Given the description of an element on the screen output the (x, y) to click on. 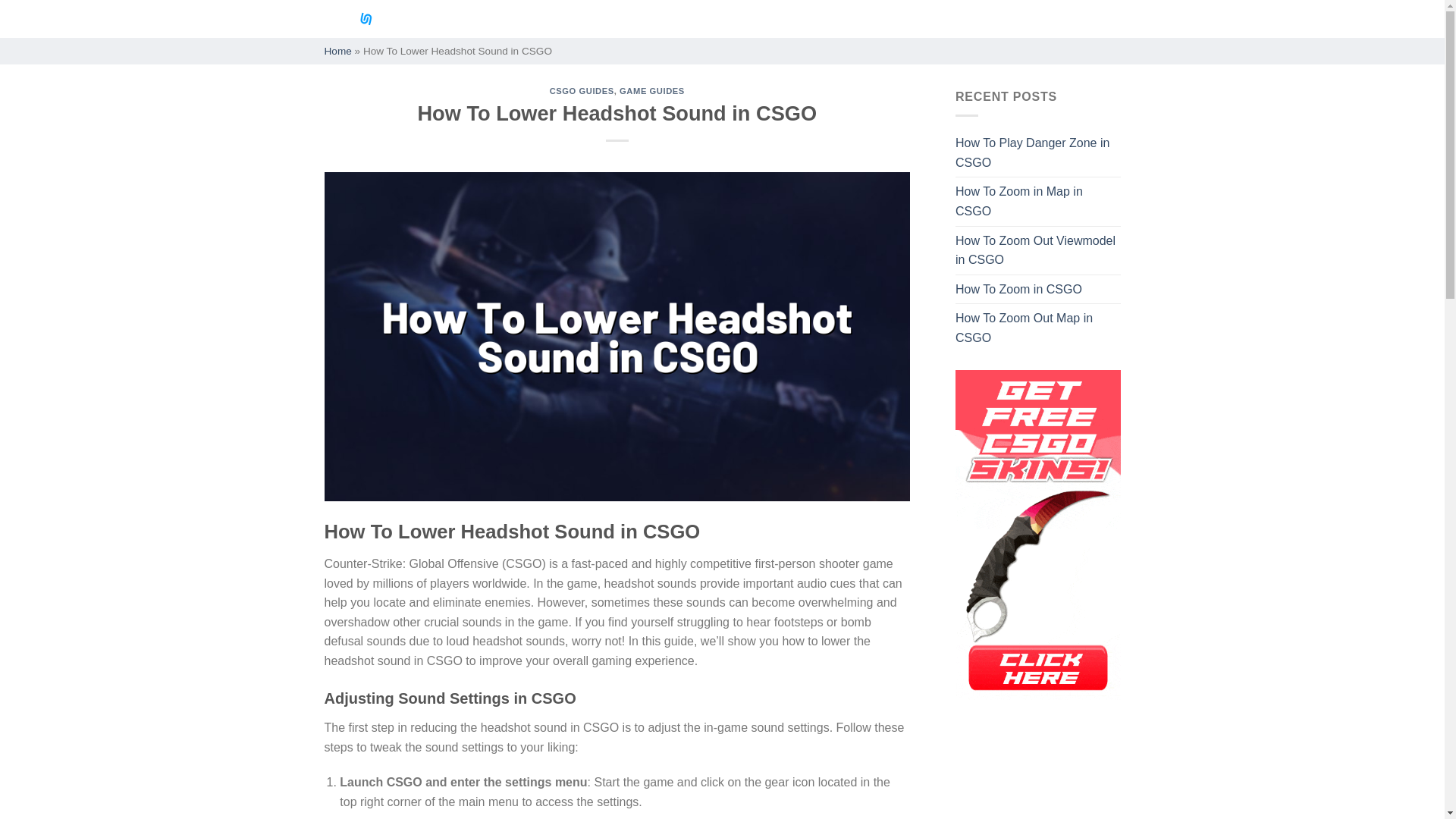
How To Zoom in CSGO (1018, 289)
VALORANT (653, 19)
CSGO (485, 19)
Home (338, 50)
CSGO GUIDES (582, 90)
Pro Config - Get eSports configs, settings and crosshair (377, 18)
GUIDES (808, 19)
How To Play Danger Zone in CSGO (1038, 152)
How To Zoom in Map in CSGO (1038, 201)
